Given the description of an element on the screen output the (x, y) to click on. 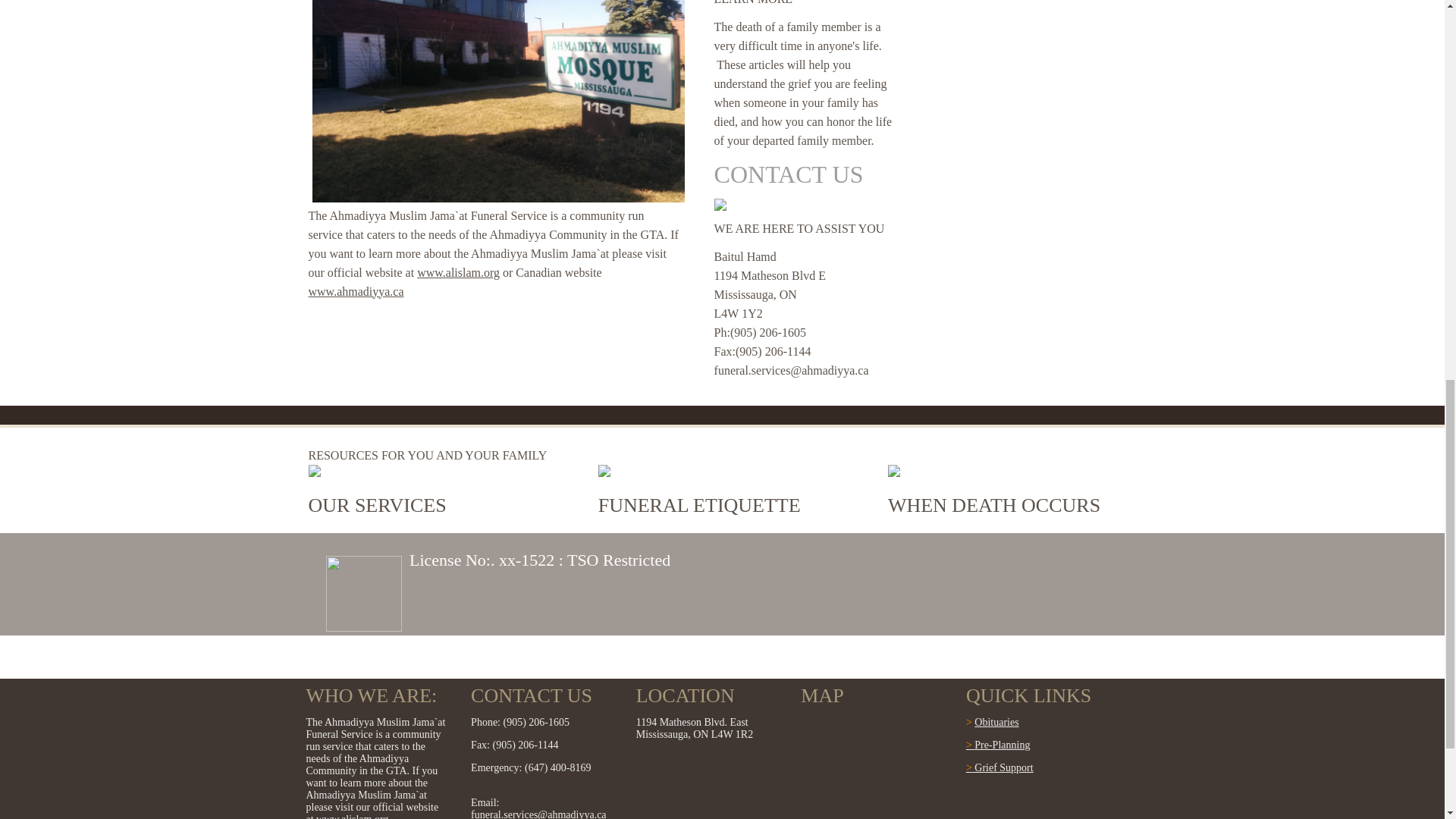
www.alislam.org (457, 272)
LEARN MORE (753, 2)
www.ahmadiyya.ca (355, 291)
